Given the description of an element on the screen output the (x, y) to click on. 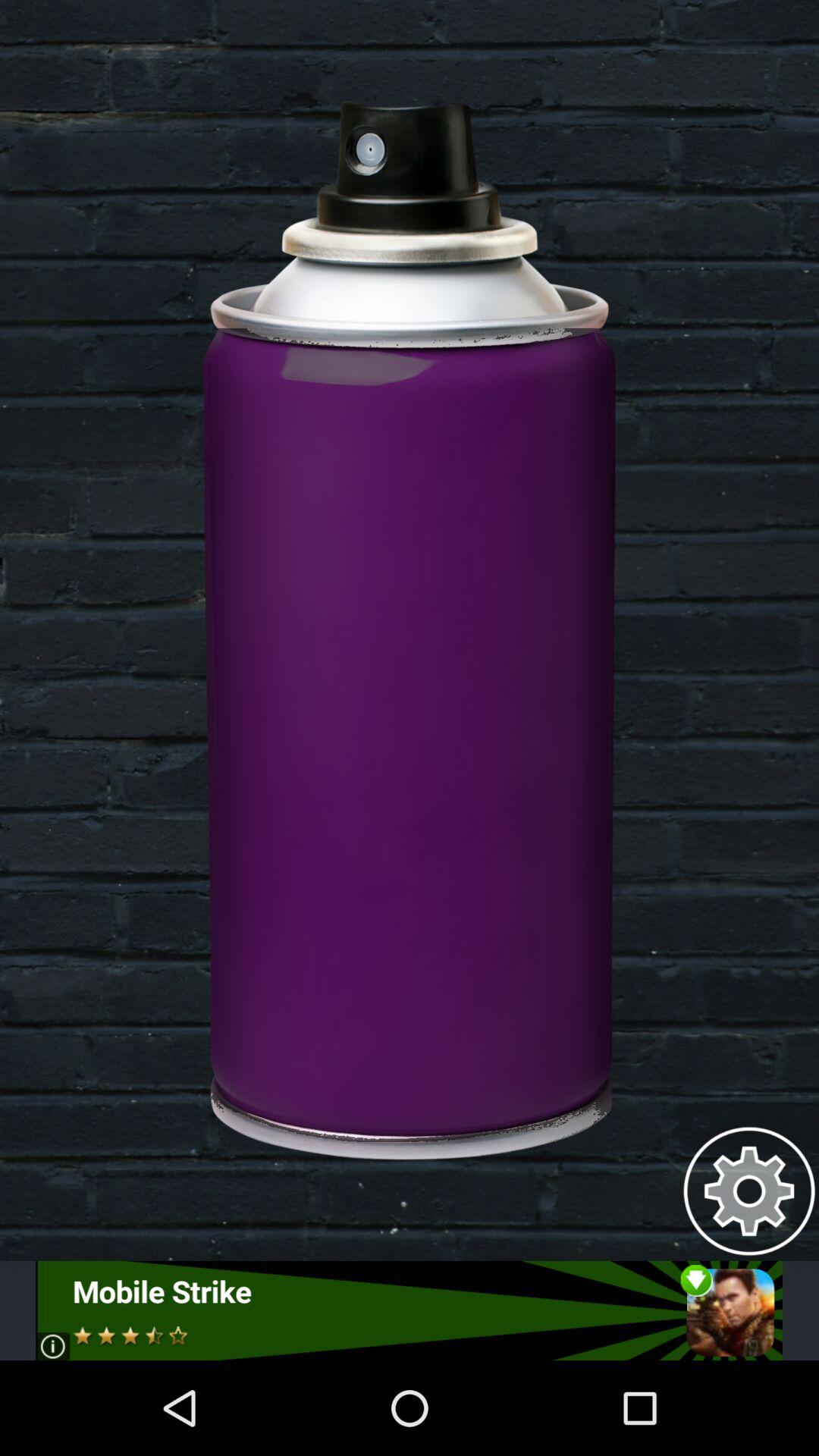
select advertisement (408, 1310)
